Given the description of an element on the screen output the (x, y) to click on. 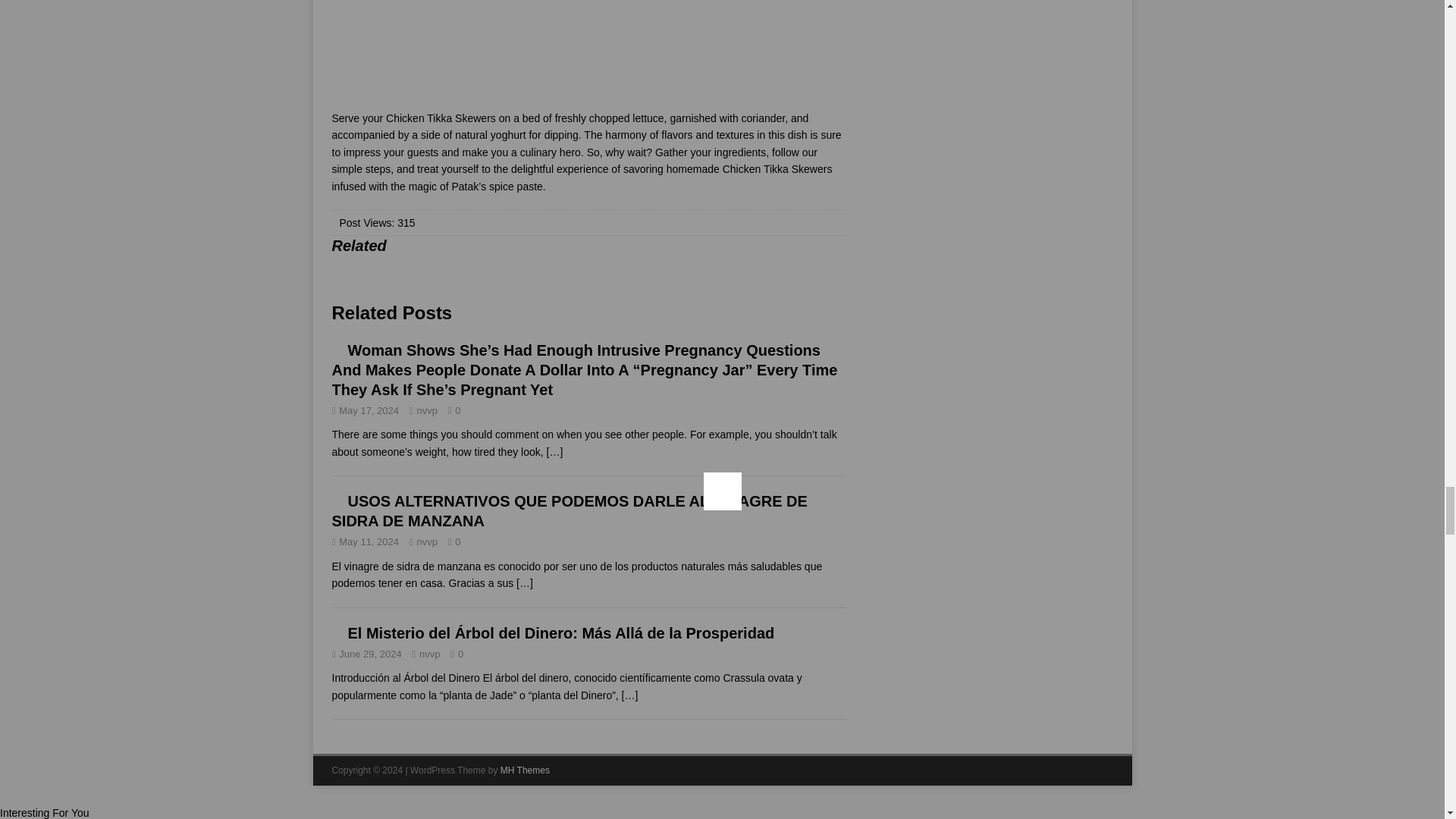
nvvp (426, 541)
nvvp (426, 410)
nvvp (429, 654)
